Given the description of an element on the screen output the (x, y) to click on. 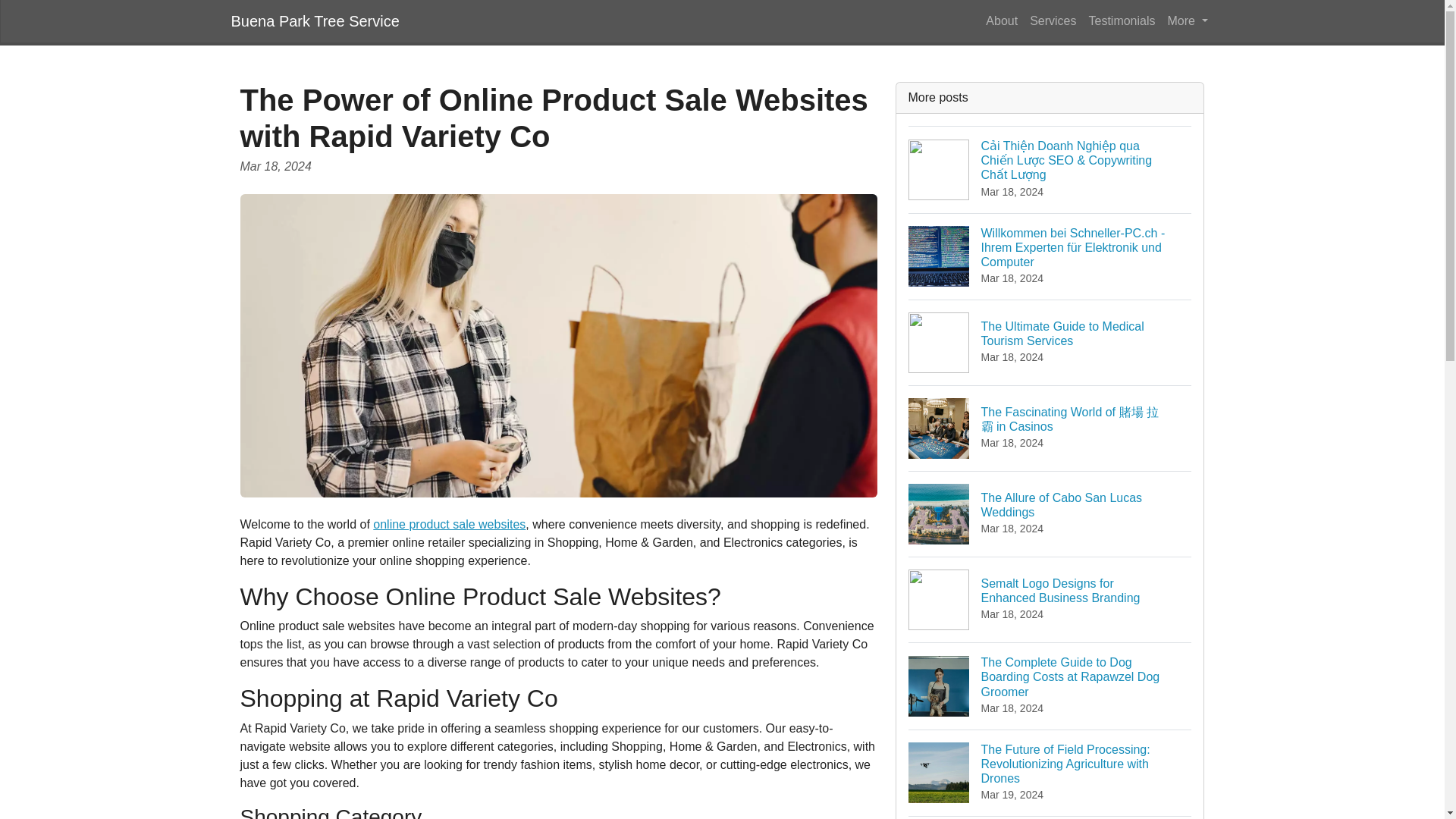
More (1050, 341)
online product sale websites (1187, 20)
Buena Park Tree Service (448, 523)
About (314, 20)
Testimonials (1001, 20)
Services (1120, 20)
